Given the description of an element on the screen output the (x, y) to click on. 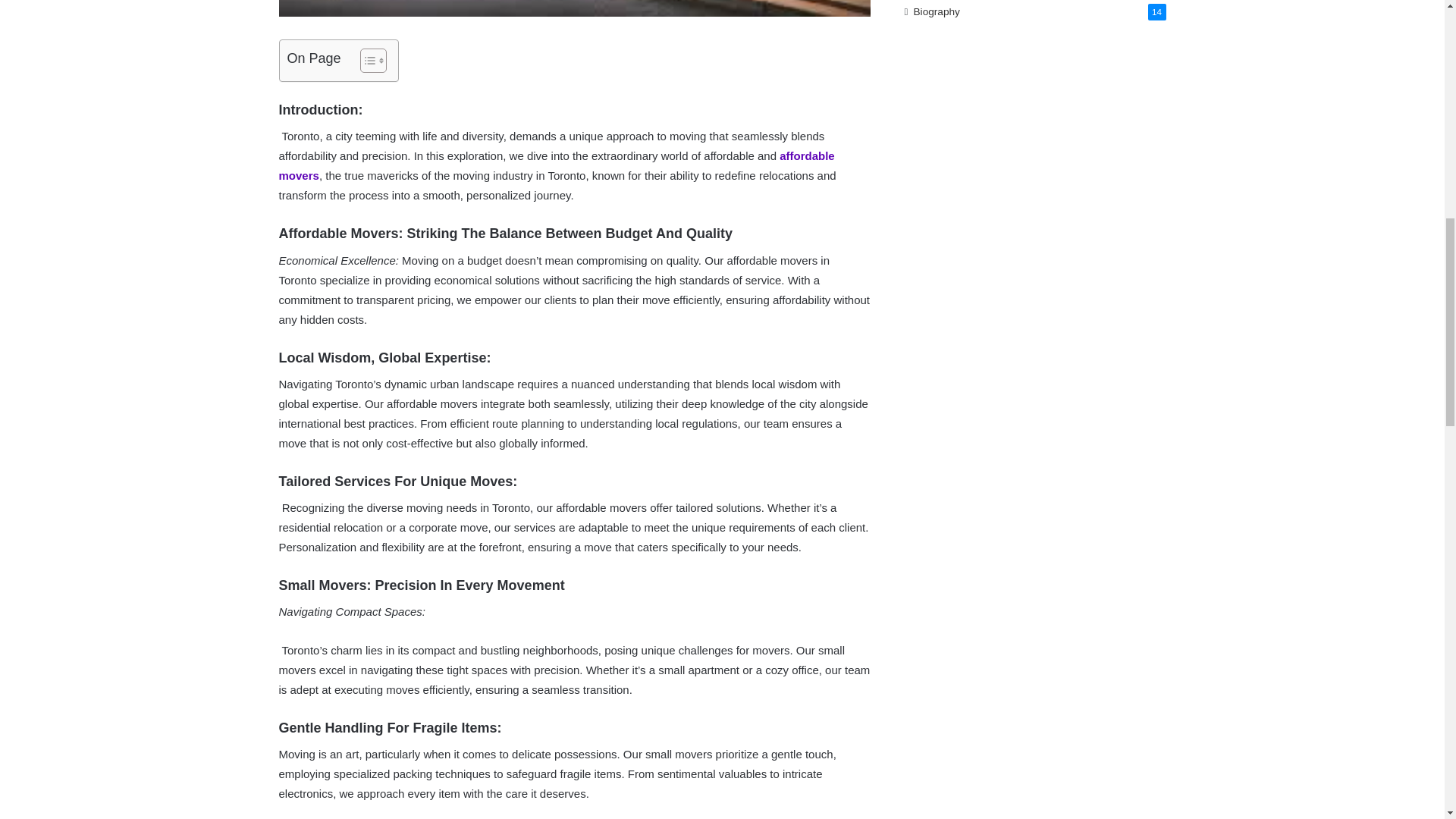
affordable movers (556, 165)
